Given the description of an element on the screen output the (x, y) to click on. 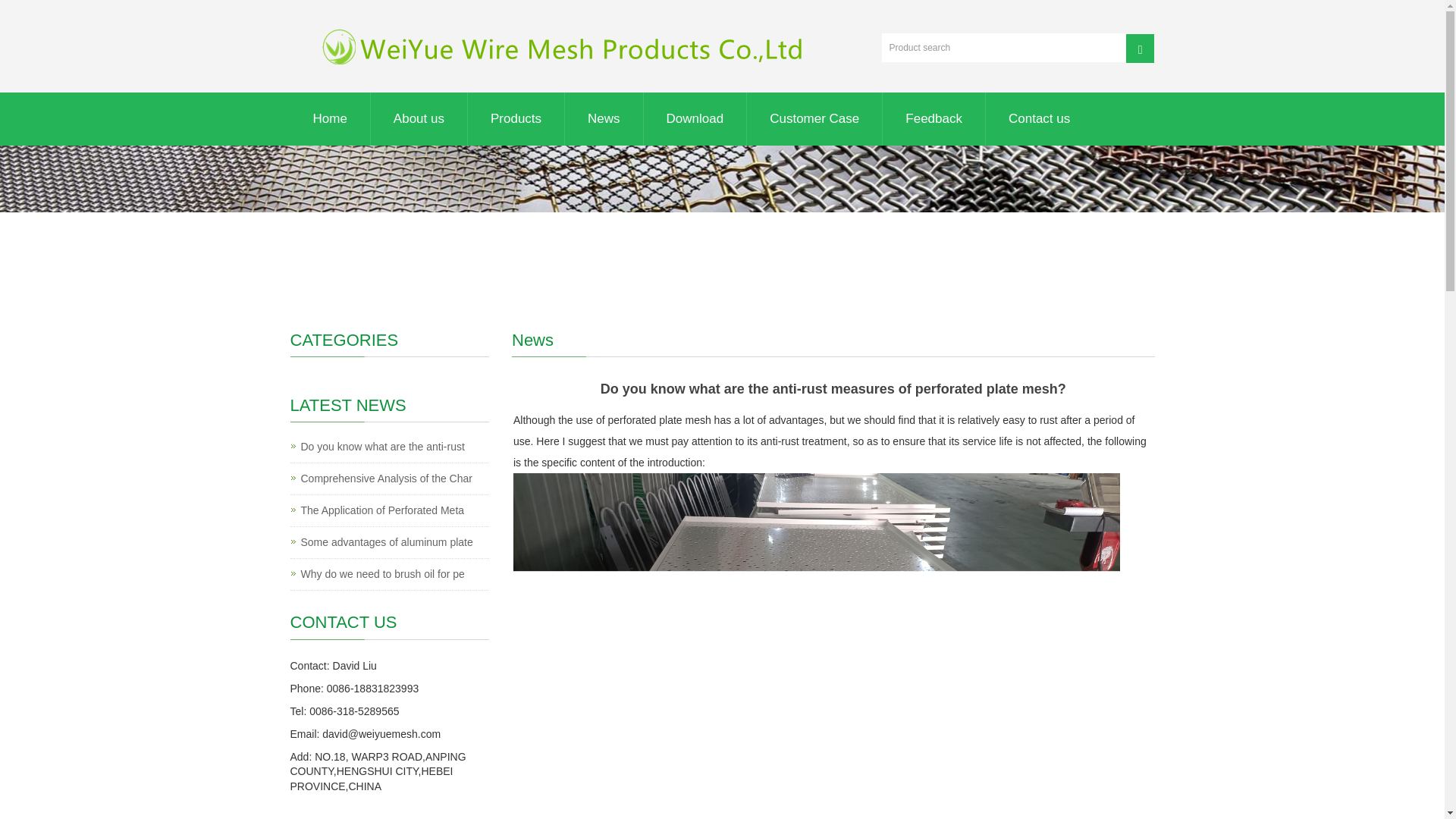
Products (515, 118)
Home (329, 118)
Do you know what are the anti-rust (381, 446)
Download (694, 118)
The Application of Perforated Metal Sheet (381, 510)
Why do we need to brush oil for pe (381, 574)
About us (419, 118)
Contact us (1039, 118)
